Given the description of an element on the screen output the (x, y) to click on. 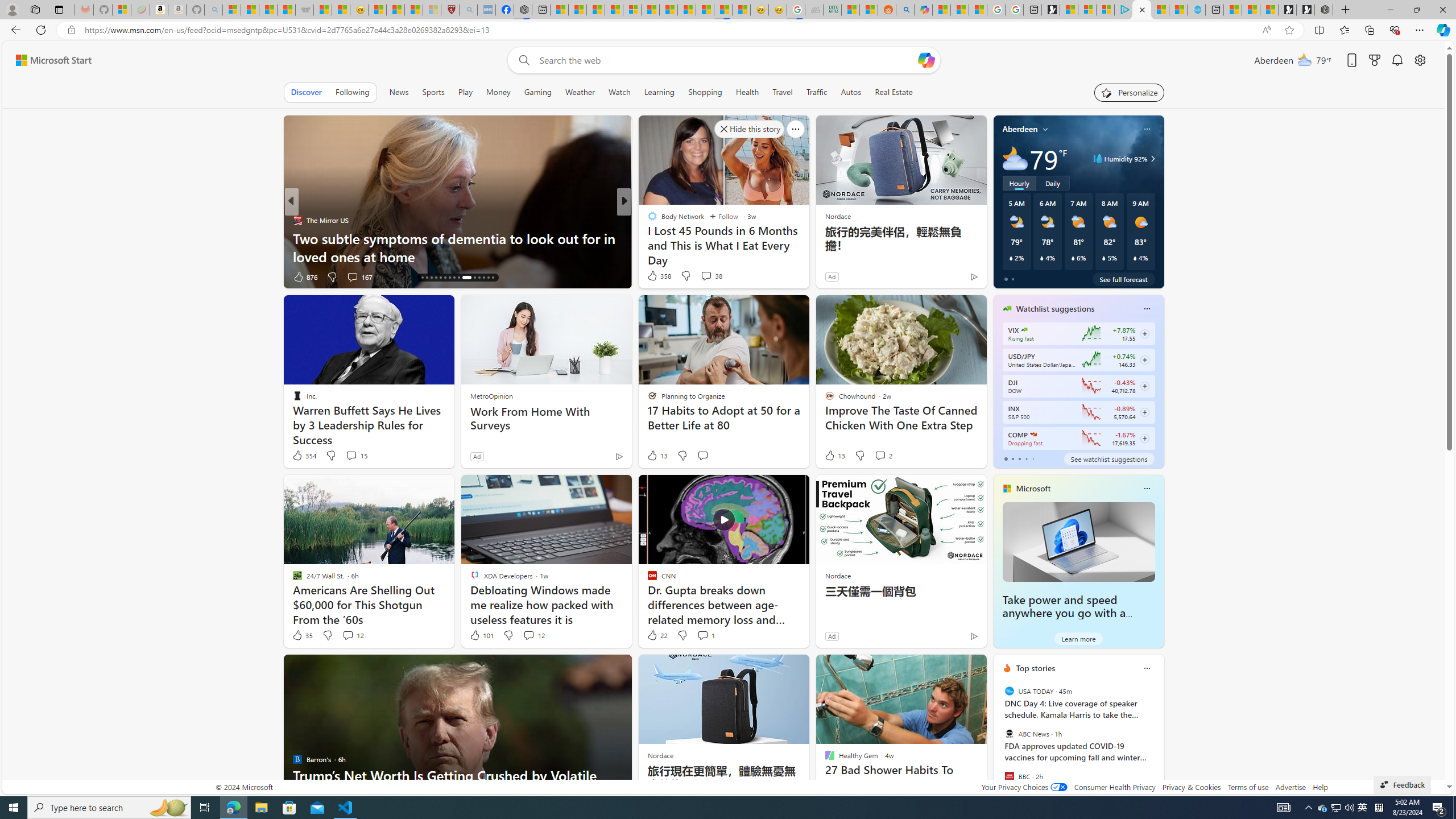
Favorites (1344, 29)
Microsoft-Report a Concern to Bing (121, 9)
AutomationID: tab-30 (492, 277)
Nordace - Nordace Siena Is Not An Ordinary Backpack (1324, 9)
400 Like (304, 276)
AutomationID: tab-27 (478, 277)
Play (465, 92)
NCL Adult Asthma Inhaler Choice Guideline - Sleeping (486, 9)
AutomationID: tab-29 (488, 277)
Mostly cloudy (1014, 158)
MSN (722, 9)
Utah sues federal government - Search (904, 9)
